Given the description of an element on the screen output the (x, y) to click on. 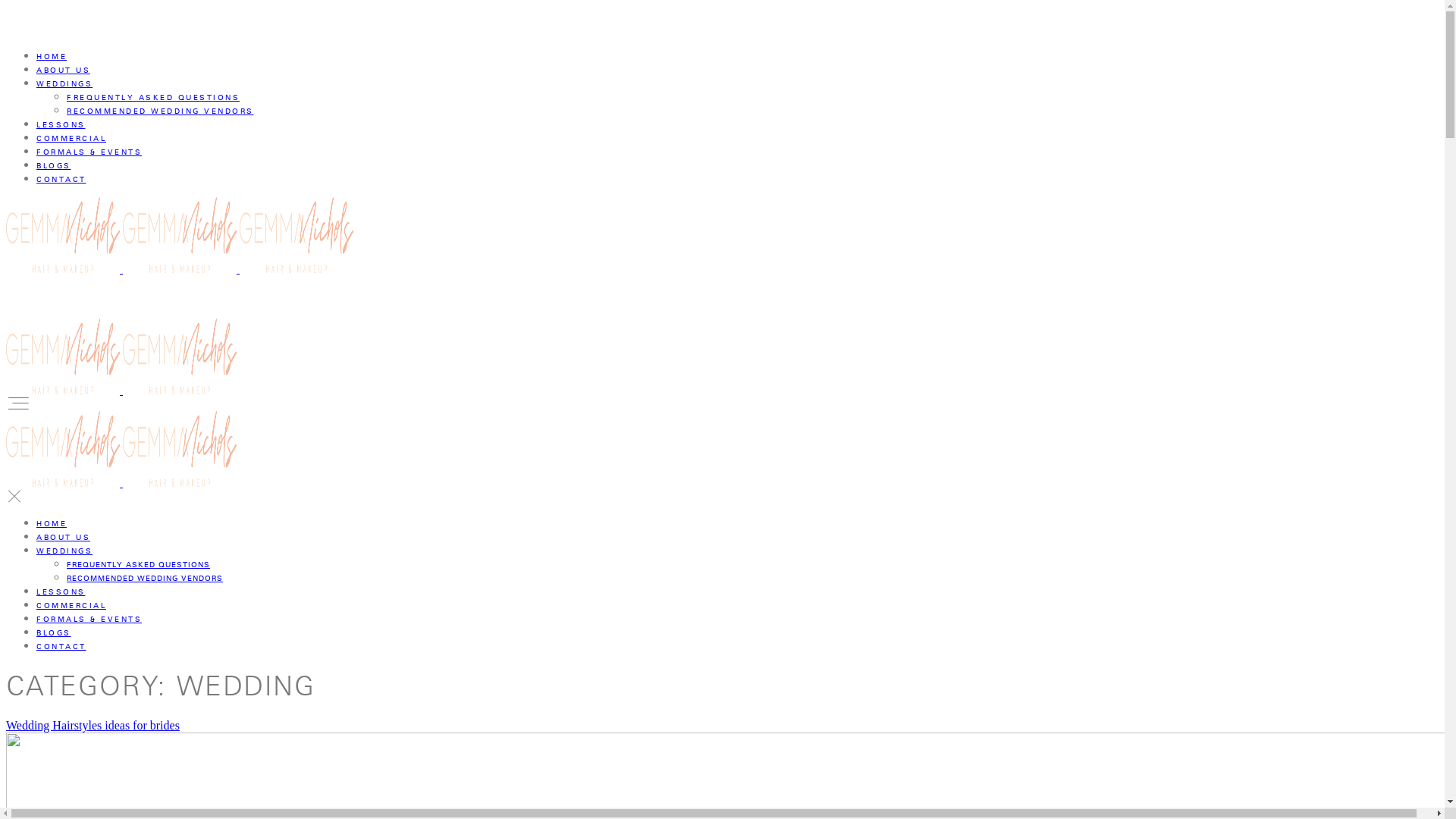
FREQUENTLY ASKED QUESTIONS Element type: text (138, 563)
CONTACT Element type: text (61, 178)
FORMALS & EVENTS Element type: text (88, 151)
BLOGS Element type: text (53, 164)
HOME Element type: text (51, 522)
HOME Element type: text (51, 55)
LESSONS Element type: text (60, 123)
Wedding Hairstyles ideas for brides Element type: text (92, 724)
RECOMMENDED WEDDING VENDORS Element type: text (144, 577)
WEDDINGS Element type: text (64, 82)
FORMALS & EVENTS Element type: text (88, 618)
FREQUENTLY ASKED QUESTIONS Element type: text (152, 96)
ABOUT US Element type: text (63, 69)
ABOUT US Element type: text (63, 536)
COMMERCIAL Element type: text (71, 604)
CONTACT Element type: text (61, 645)
WEDDINGS Element type: text (64, 550)
RECOMMENDED WEDDING VENDORS Element type: text (160, 110)
COMMERCIAL Element type: text (71, 137)
BLOGS Element type: text (53, 632)
LESSONS Element type: text (60, 591)
